Given the description of an element on the screen output the (x, y) to click on. 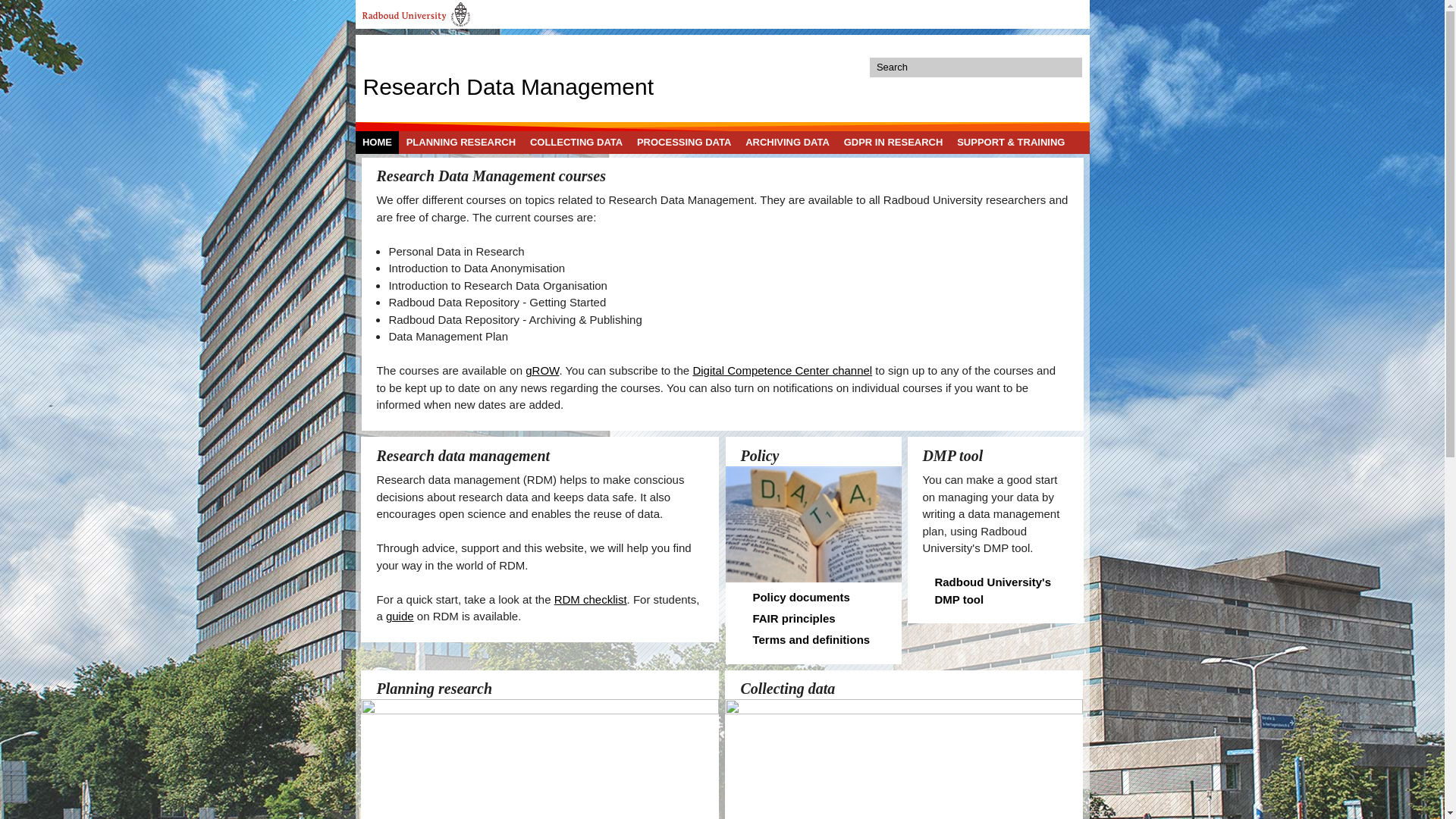
Radboud University (415, 14)
Search (1070, 66)
PROCESSING DATA (683, 141)
PLANNING RESEARCH (460, 141)
Research Data Management (507, 85)
GDPR IN RESEARCH (893, 141)
ARCHIVING DATA (787, 141)
COLLECTING DATA (576, 141)
HOME (376, 141)
